Given the description of an element on the screen output the (x, y) to click on. 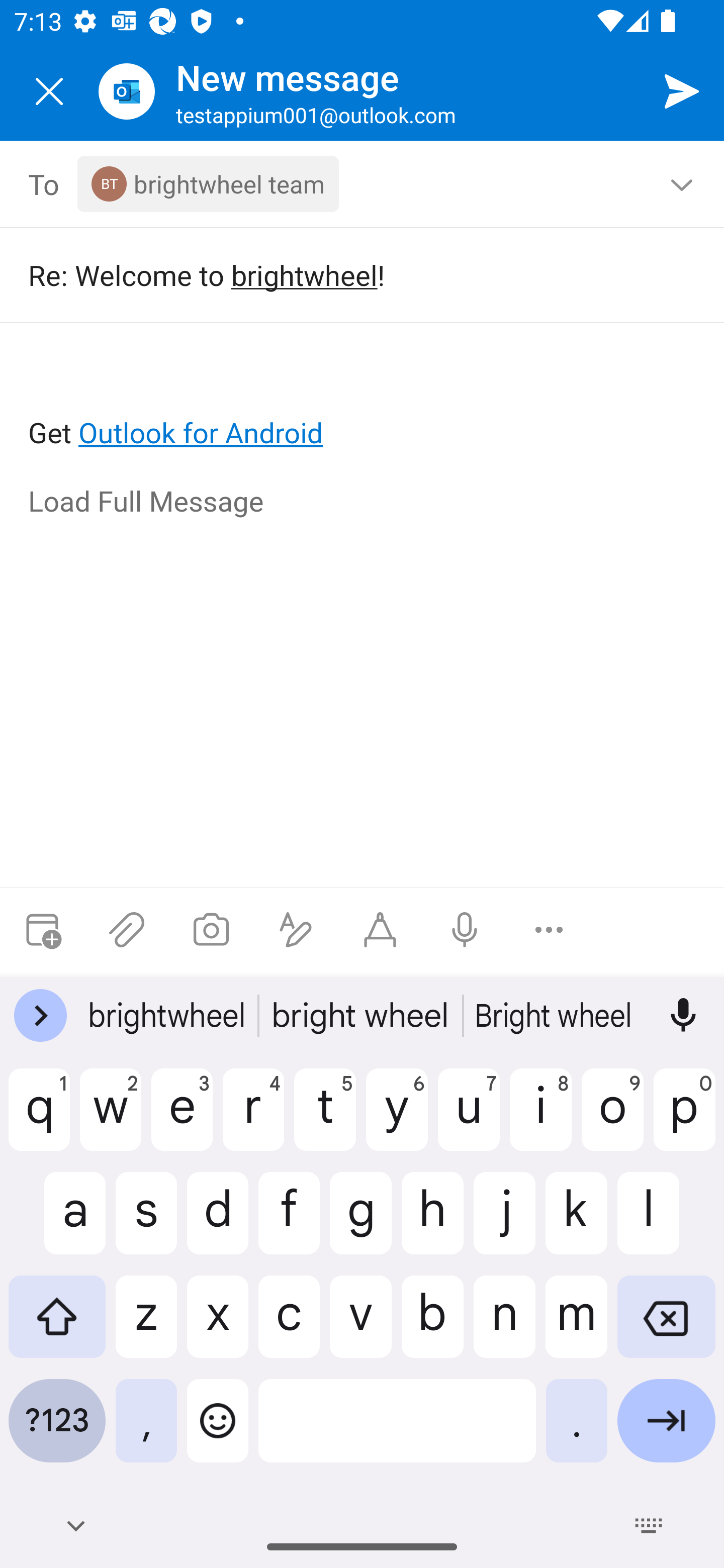
Close (49, 91)
Send (681, 90)
Re: Welcome to brightwheel! (347, 274)


Get Outlook for Android (363, 400)
Load Full Message (363, 502)
Attach meeting (42, 929)
Attach files (126, 929)
Take a photo (210, 929)
Show formatting options (295, 929)
Start Ink compose (380, 929)
Dictation (464, 929)
More options (548, 929)
